Given the description of an element on the screen output the (x, y) to click on. 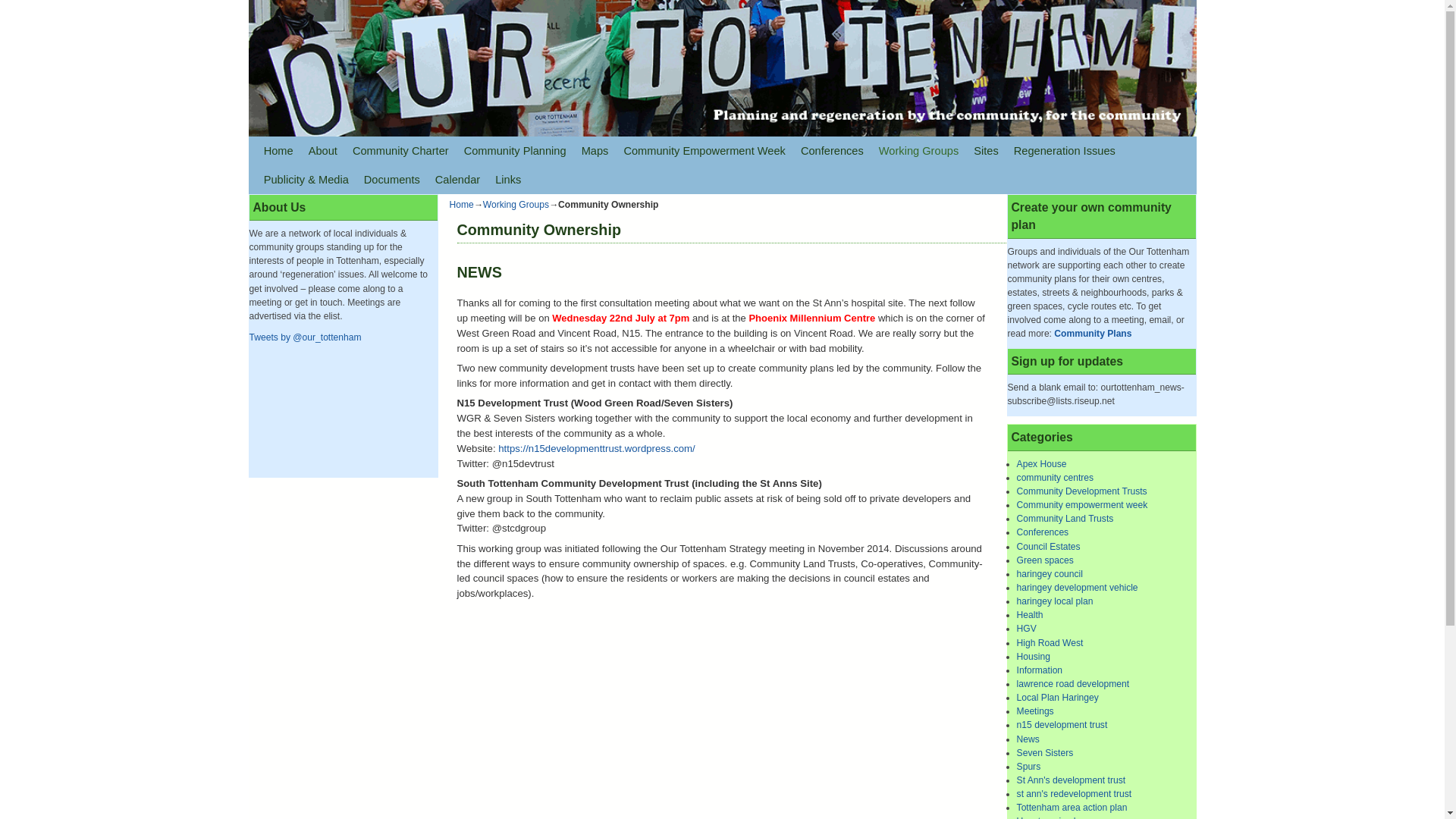
Community Charter (401, 150)
Maps (594, 150)
Sites (986, 150)
Community Planning (515, 150)
Working Groups (918, 150)
Skip to primary content (329, 150)
About (323, 150)
Community Empowerment Week (703, 150)
Skip to secondary content (335, 150)
Conferences (831, 150)
Home (278, 150)
